Given the description of an element on the screen output the (x, y) to click on. 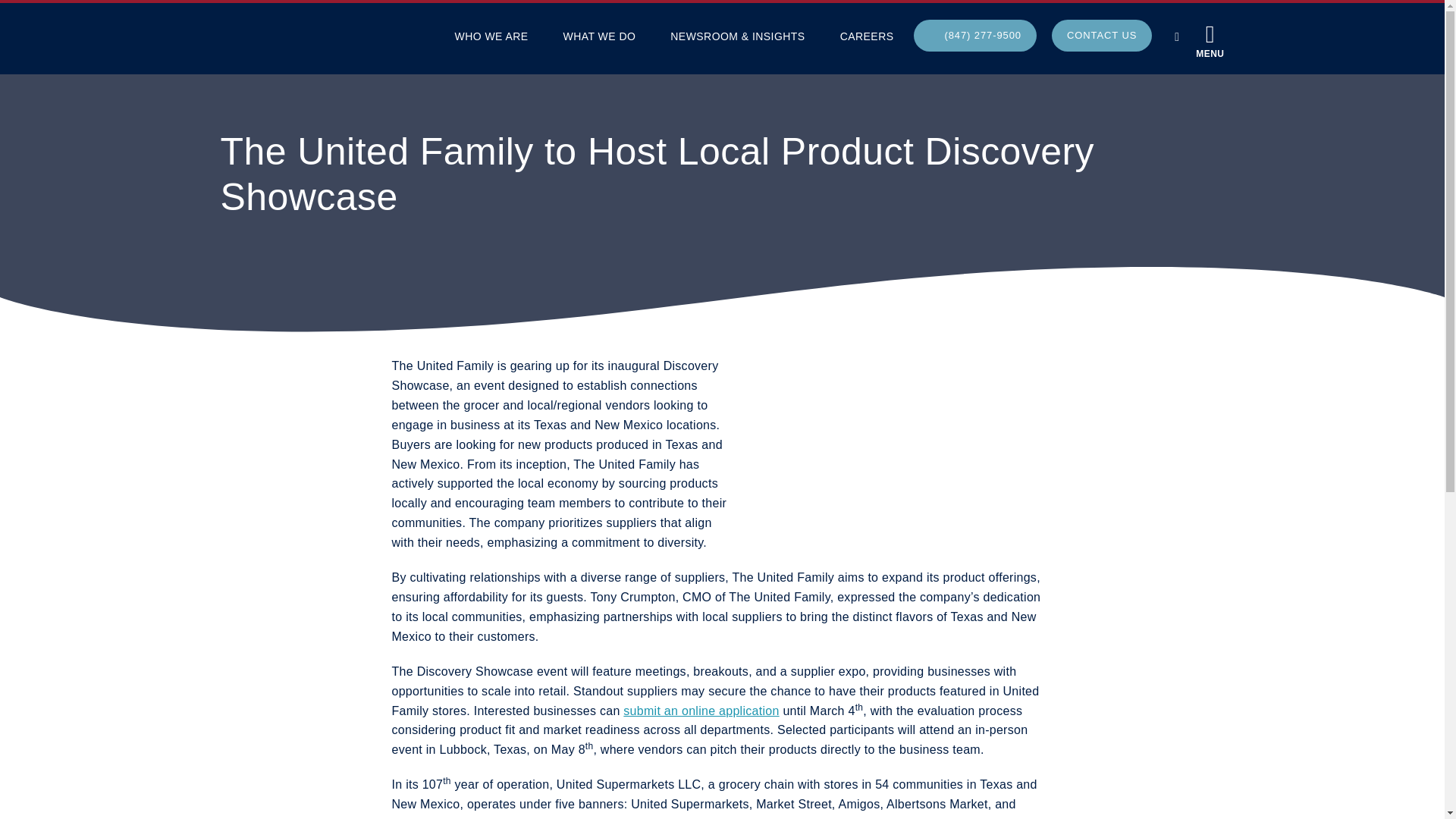
CONTACT US (1101, 35)
submit an online application (700, 709)
CAREERS (866, 36)
WHAT WE DO (599, 36)
WHO WE ARE (490, 36)
